Given the description of an element on the screen output the (x, y) to click on. 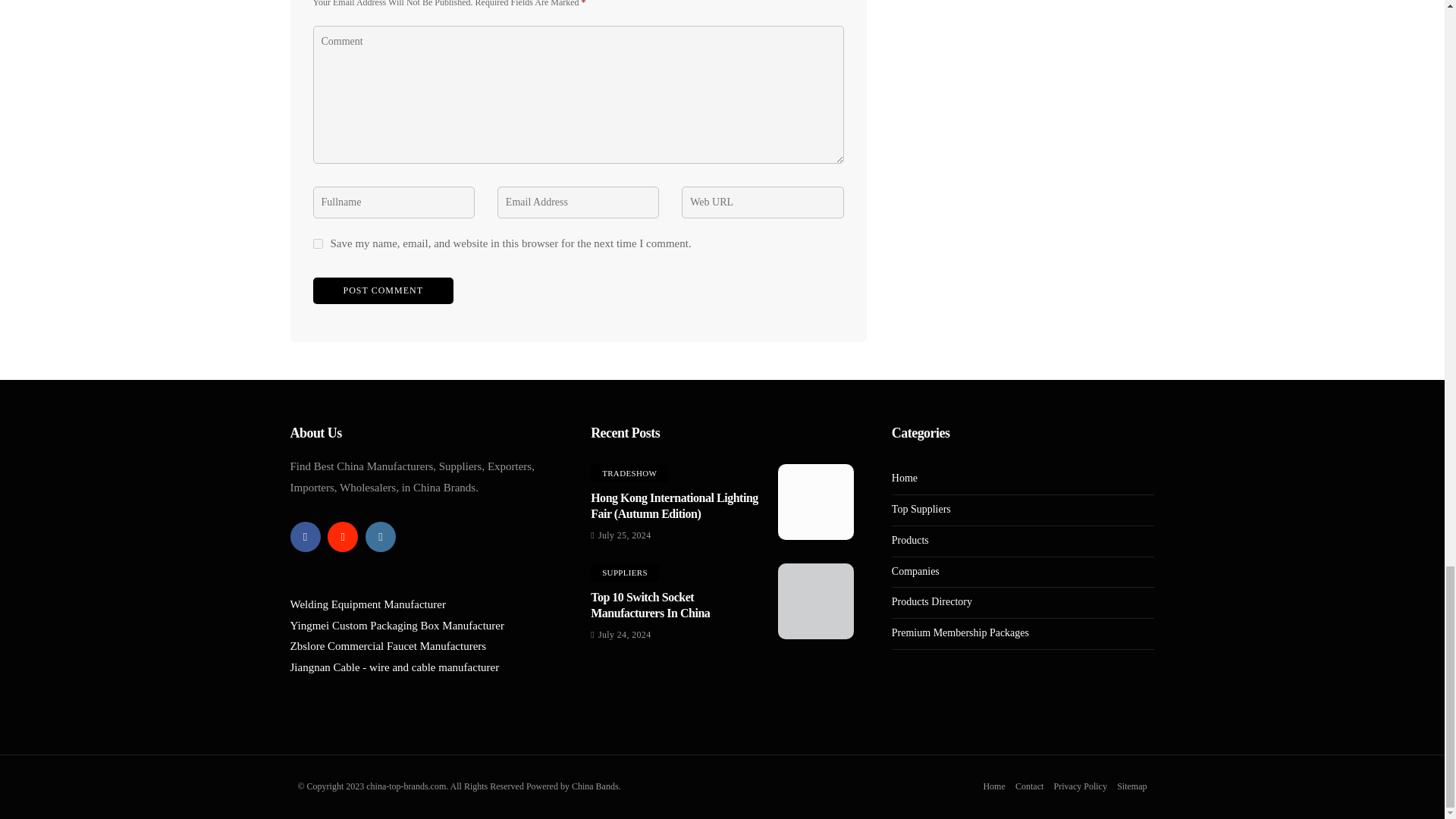
yes (317, 243)
Post Comment (382, 290)
